Given the description of an element on the screen output the (x, y) to click on. 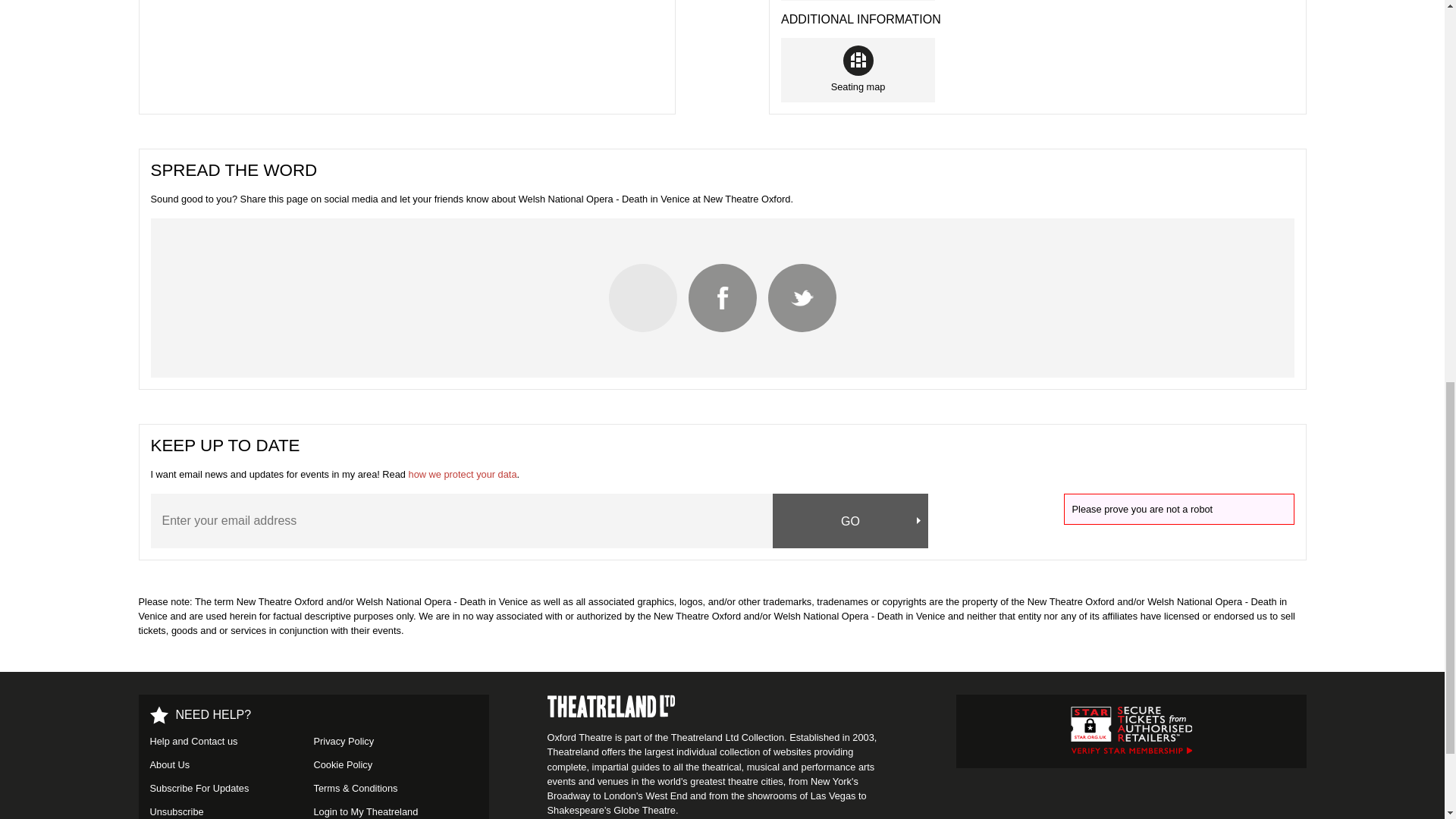
GO (850, 520)
